Given the description of an element on the screen output the (x, y) to click on. 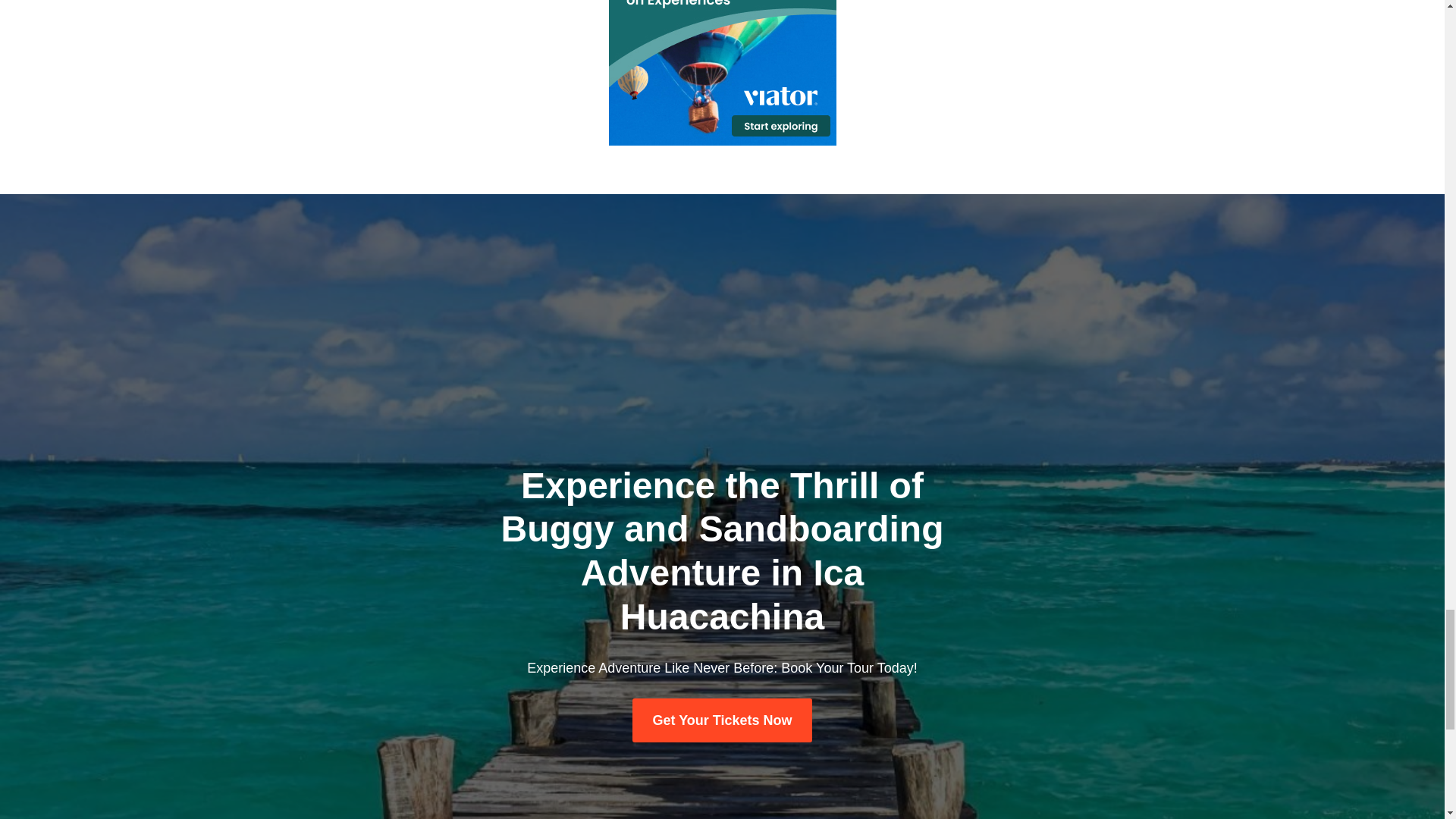
Get Your Tickets Now (720, 720)
